Given the description of an element on the screen output the (x, y) to click on. 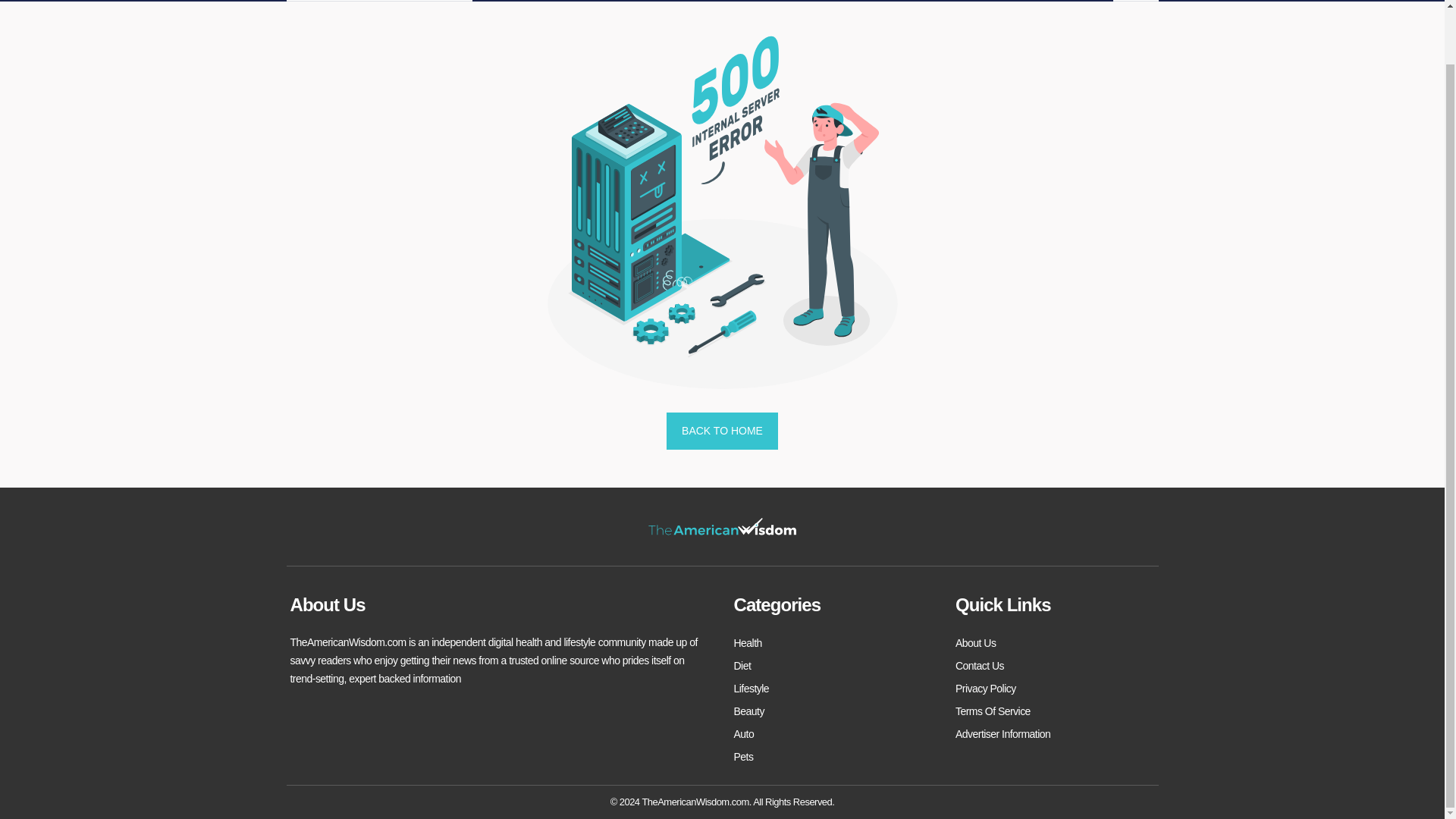
Privacy Policy (985, 688)
Beauty (748, 710)
Diet (742, 665)
Pets (743, 756)
BACK TO HOME (721, 431)
Health (747, 642)
Auto (743, 733)
Terms Of Service (992, 710)
Lifestyle (751, 688)
About Us (975, 642)
